Given the description of an element on the screen output the (x, y) to click on. 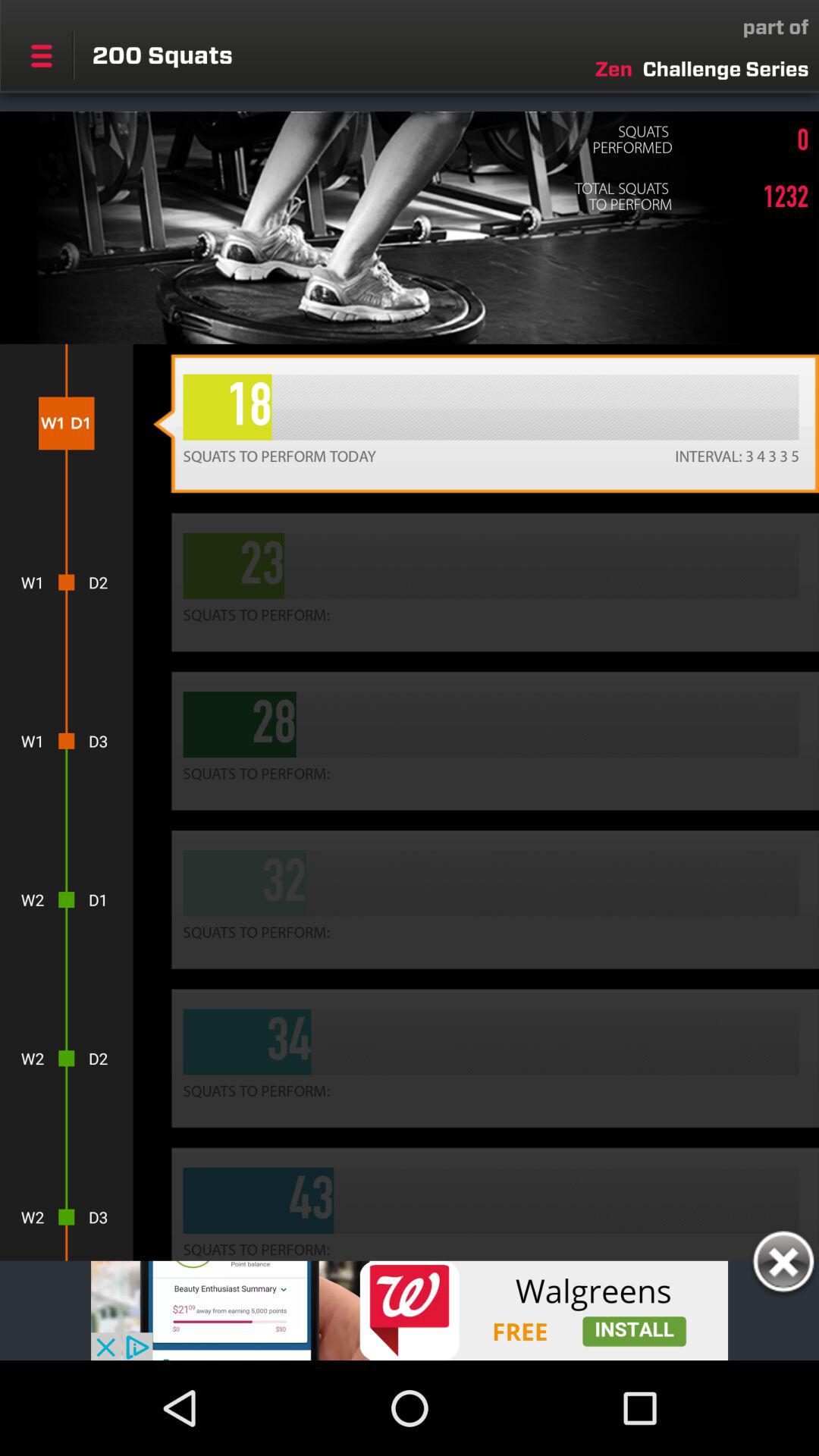
select the tab in which numeric 28 is written (486, 740)
select the button which is right to d1 (486, 899)
